Given the description of an element on the screen output the (x, y) to click on. 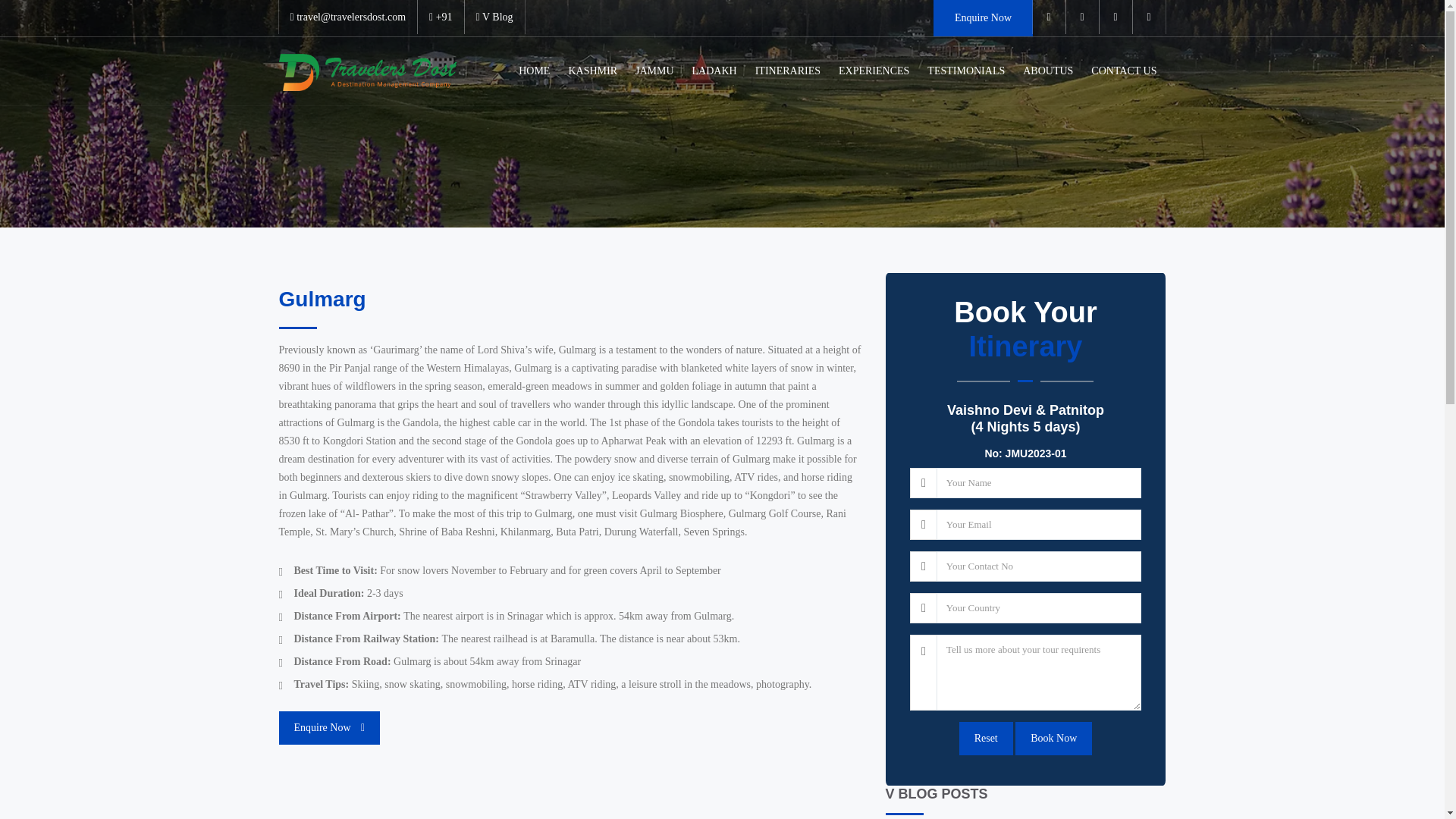
ABOUTUS (1047, 70)
LADAKH (713, 70)
TESTIMONIALS (965, 70)
ITINERARIES (787, 70)
KASHMIR (592, 70)
V Blog (494, 17)
CONTACT US (1123, 70)
EXPERIENCES (873, 70)
